Given the description of an element on the screen output the (x, y) to click on. 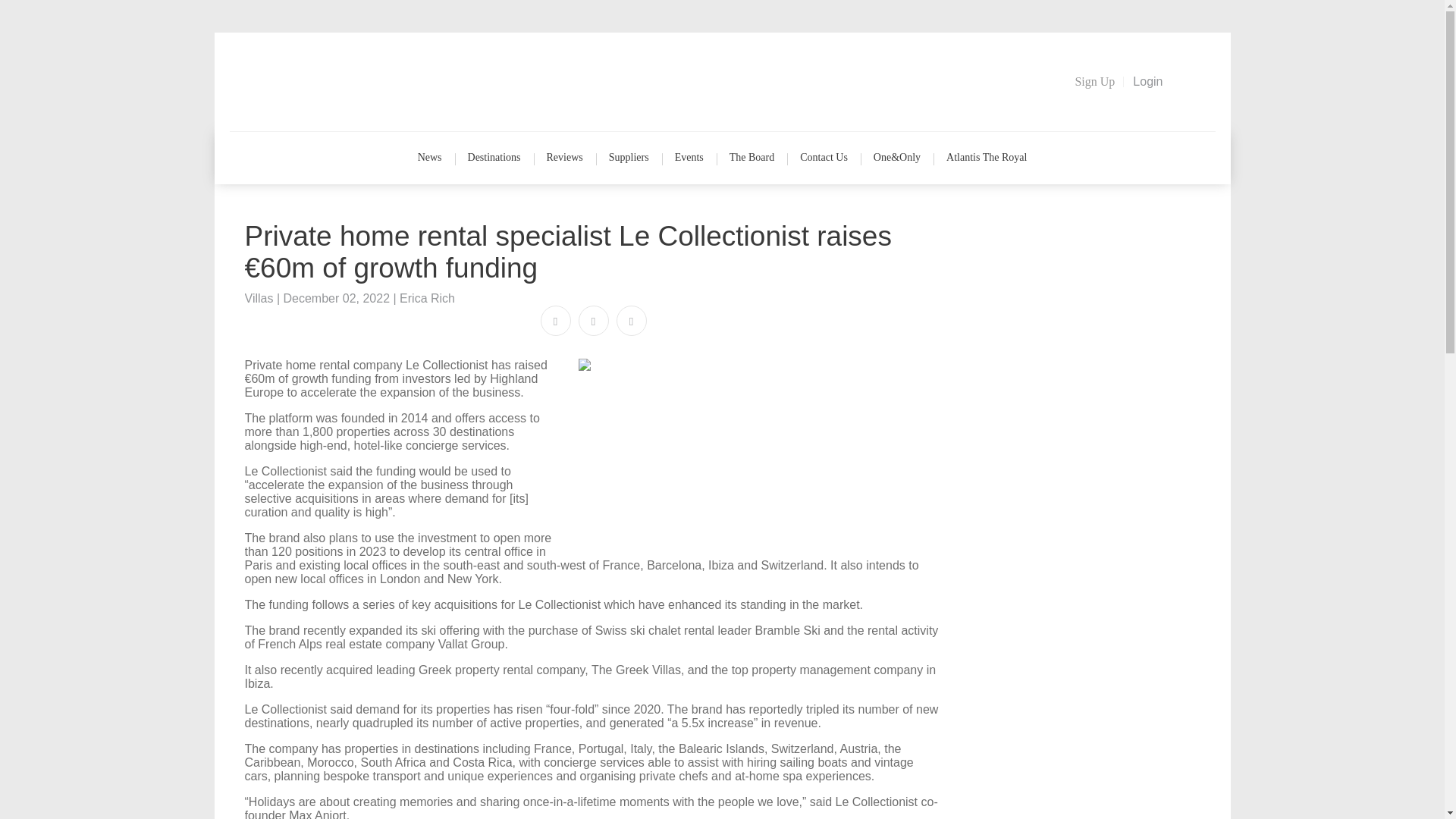
Villas (258, 297)
The Board (751, 157)
Contact Us (823, 157)
Reviews (564, 157)
Events (689, 157)
Suppliers (628, 157)
Share on LinkedIn (631, 320)
Sign Up (1094, 81)
Login (1147, 81)
News (429, 157)
